Given the description of an element on the screen output the (x, y) to click on. 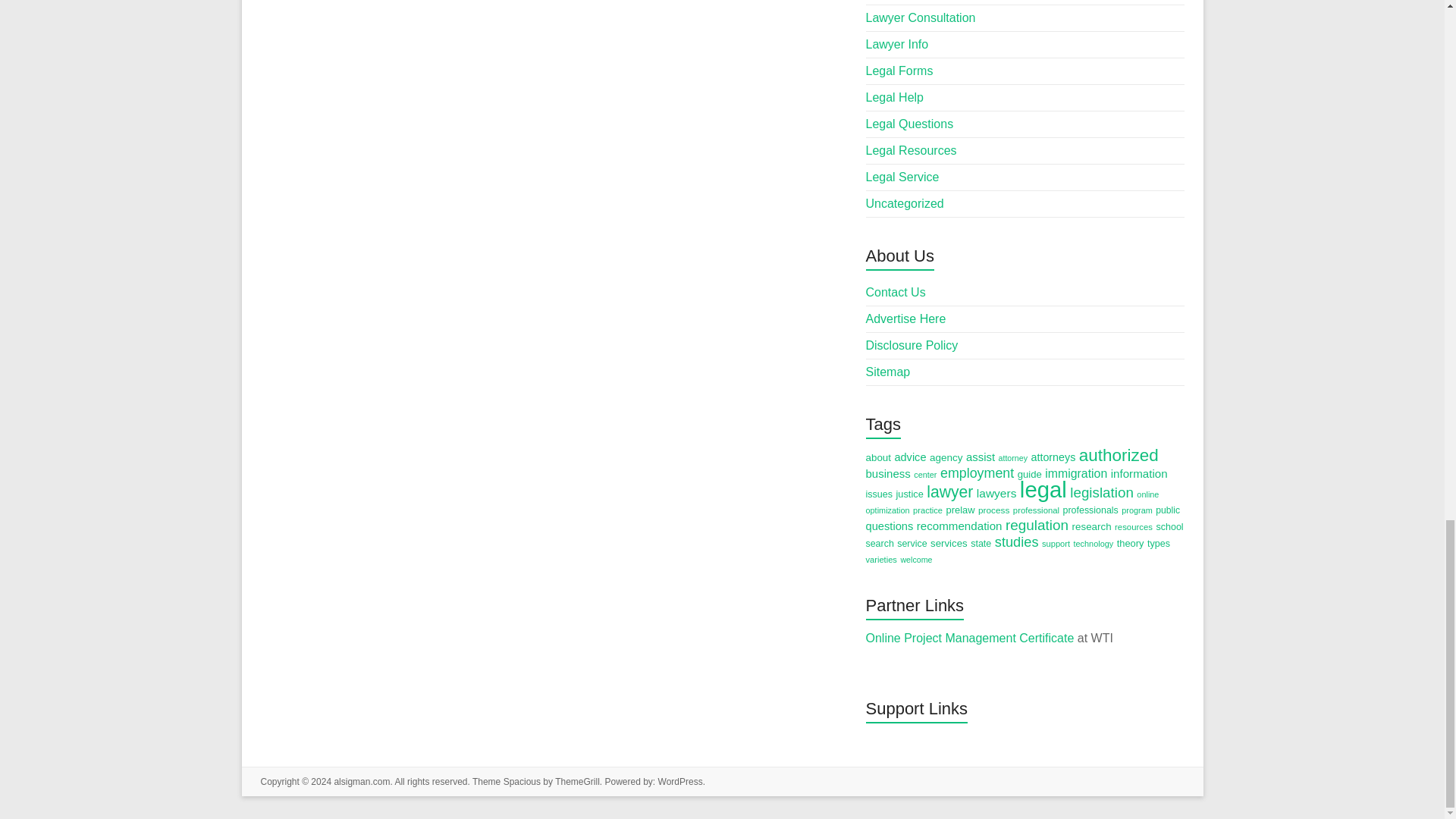
Spacious (521, 781)
alsigman.com (361, 781)
WordPress (680, 781)
